Given the description of an element on the screen output the (x, y) to click on. 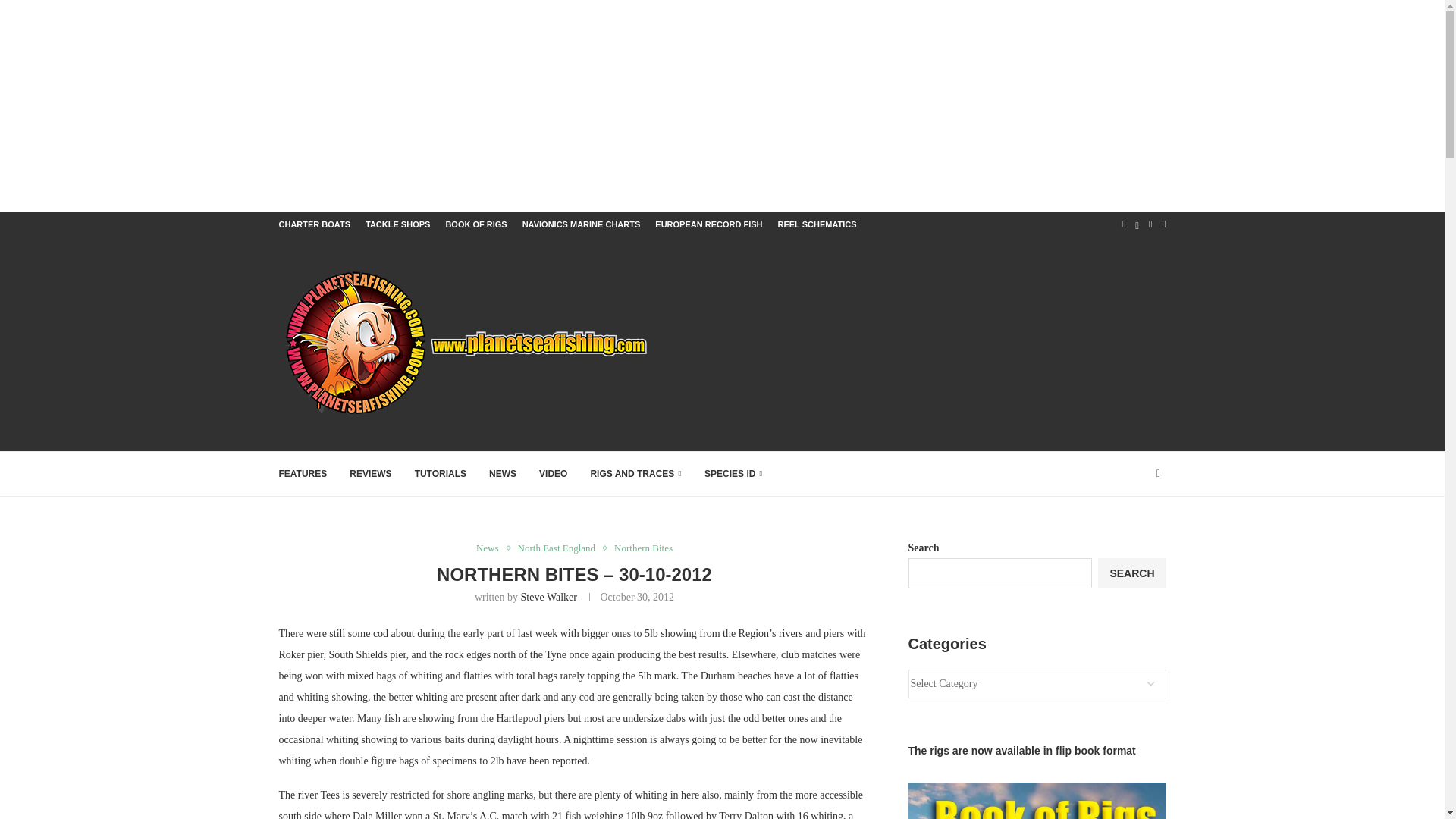
TUTORIALS (439, 474)
REEL SCHEMATICS (816, 224)
North East England (561, 548)
BOOK OF RIGS (475, 224)
TACKLE SHOPS (397, 224)
REVIEWS (370, 474)
EUROPEAN RECORD FISH (708, 224)
Northern Bites (643, 548)
NAVIONICS MARINE CHARTS (581, 224)
